Given the description of an element on the screen output the (x, y) to click on. 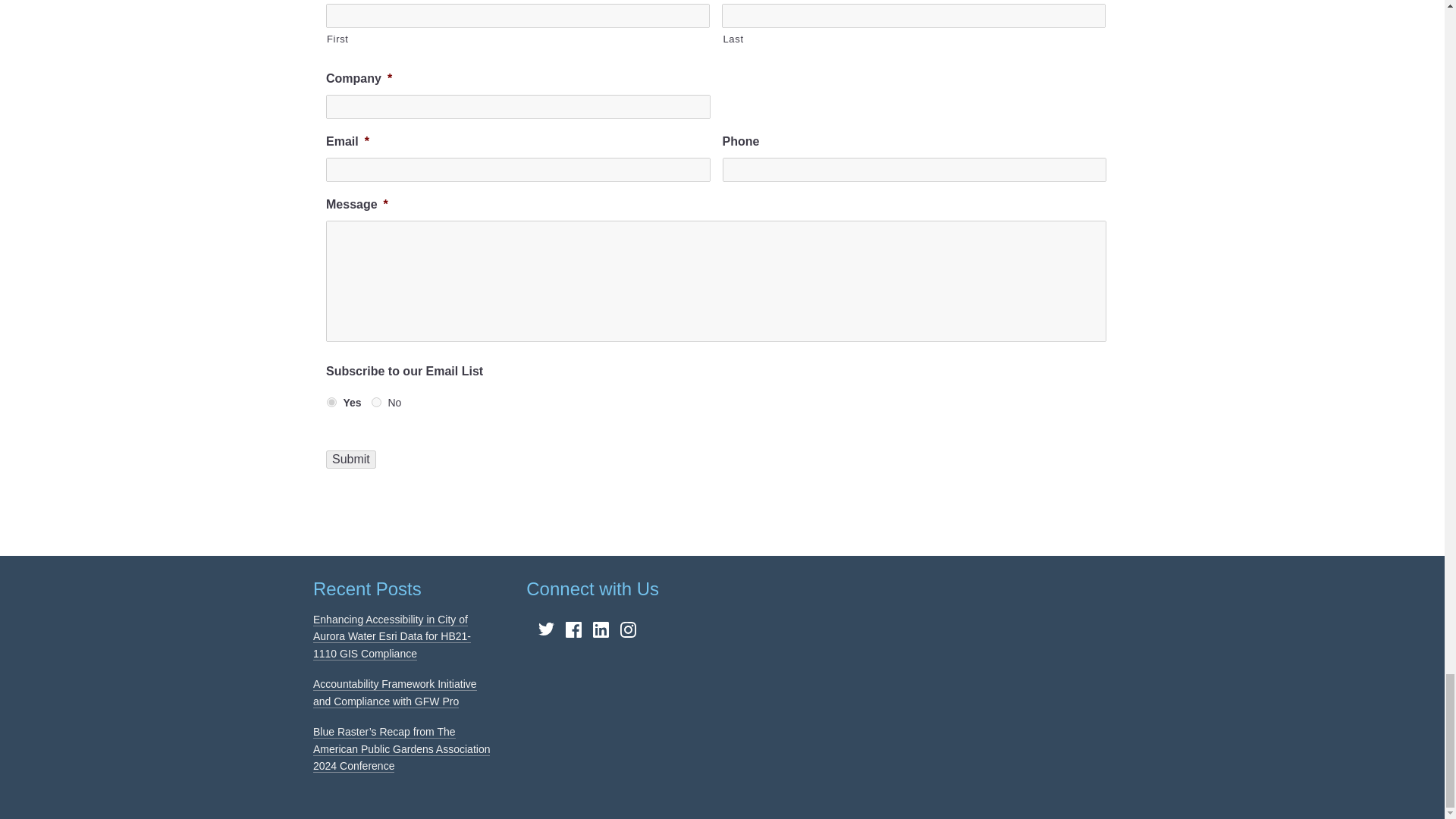
Submit (350, 459)
Submit (350, 459)
Yes (331, 402)
No (376, 402)
